Given the description of an element on the screen output the (x, y) to click on. 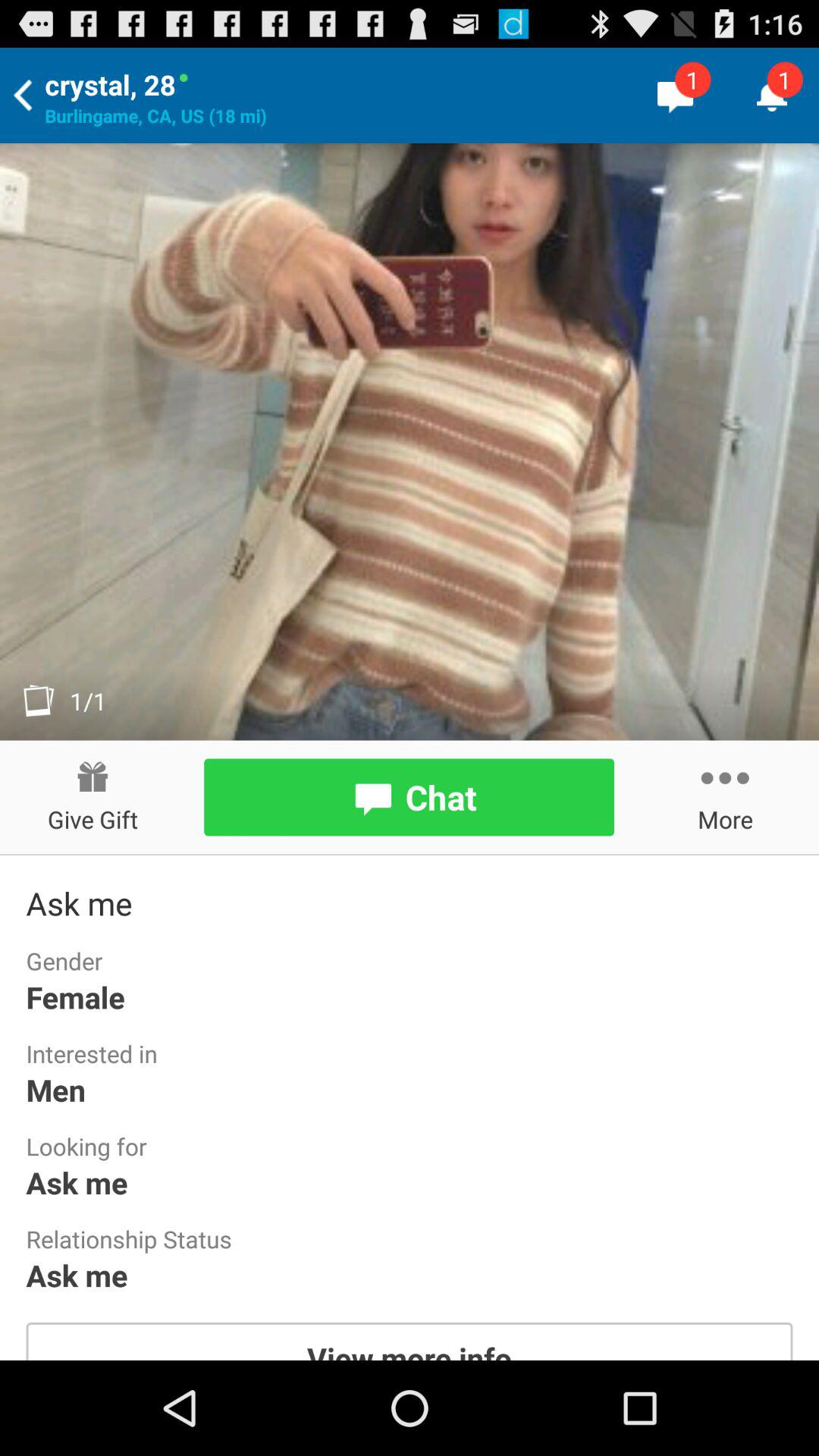
click view more info item (409, 1341)
